Given the description of an element on the screen output the (x, y) to click on. 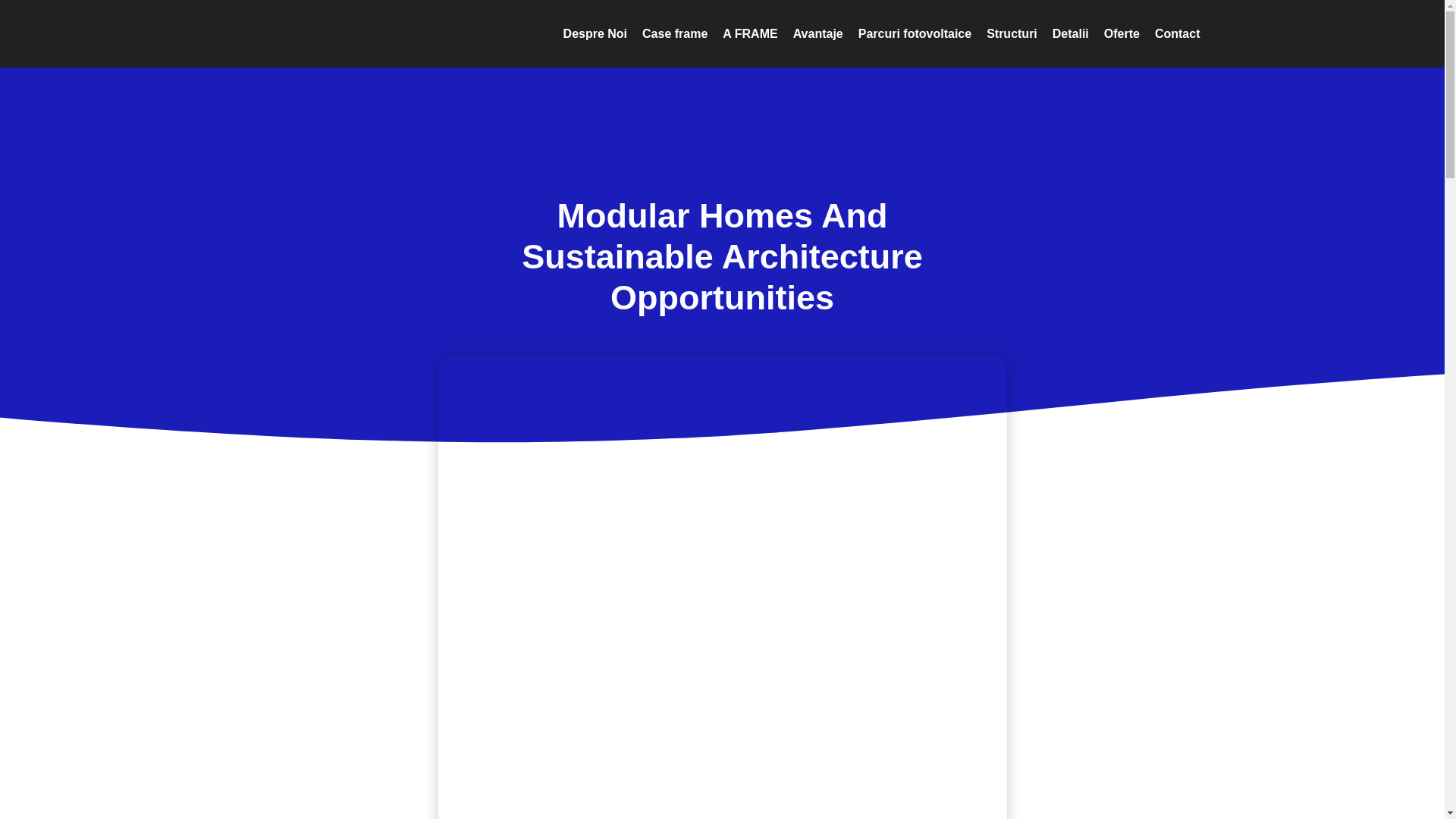
Detalii (1070, 33)
Case frame (674, 33)
Oferte (1121, 33)
Contact (1177, 33)
Structuri (1011, 33)
Despre Noi (595, 33)
Parcuri fotovoltaice (914, 33)
Avantaje (818, 33)
A FRAME (749, 33)
